Given the description of an element on the screen output the (x, y) to click on. 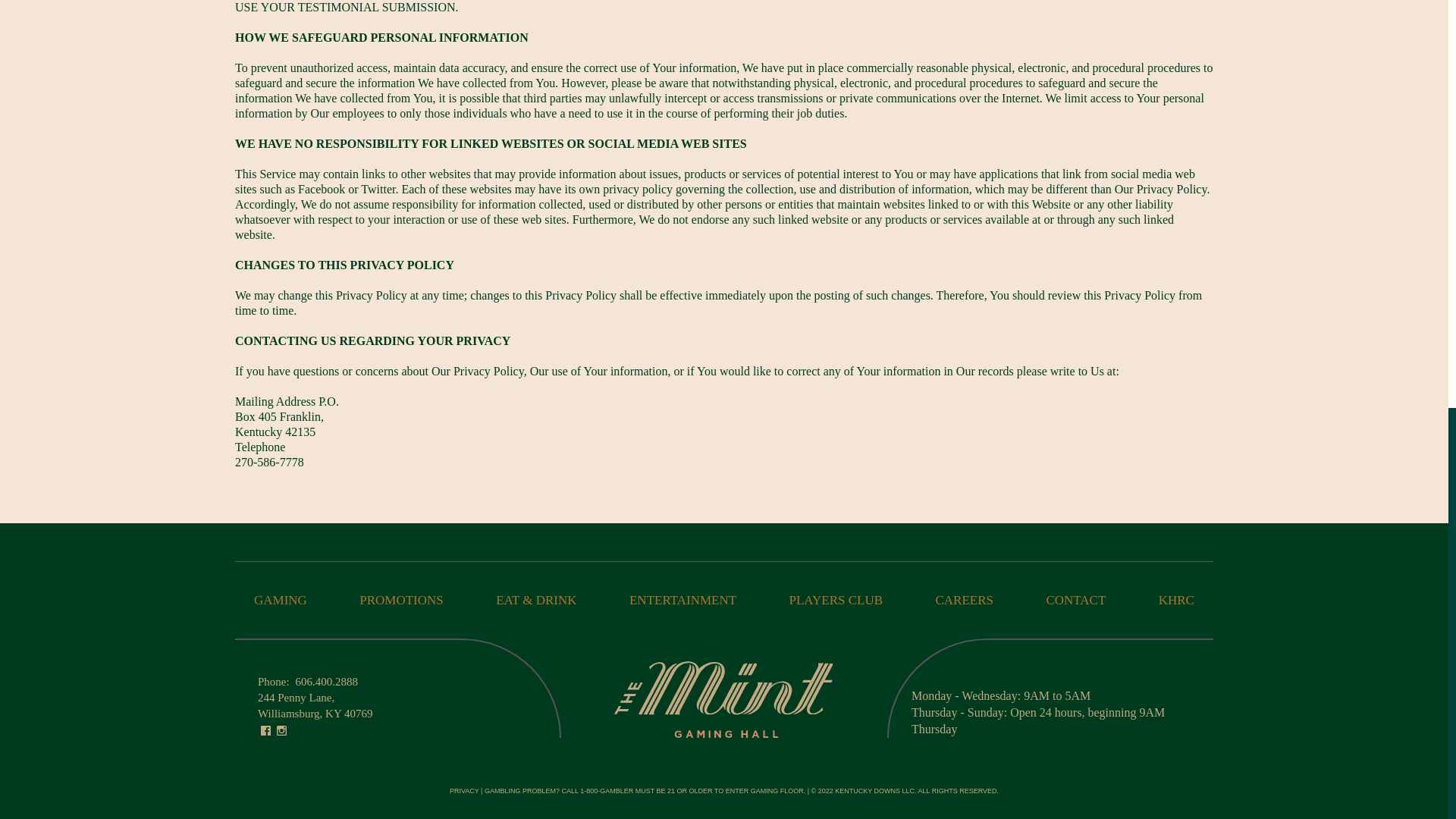
CONTACT (1075, 599)
KHRC (1175, 599)
PRIVACY (464, 790)
GAMBLING PROBLEM? CALL 1-800-GAMBLER (558, 790)
PLAYERS CLUB (835, 599)
ENTERTAINMENT (682, 599)
GAMING (280, 599)
PROMOTIONS (401, 599)
606.400.2888 (326, 681)
CAREERS (963, 599)
